Given the description of an element on the screen output the (x, y) to click on. 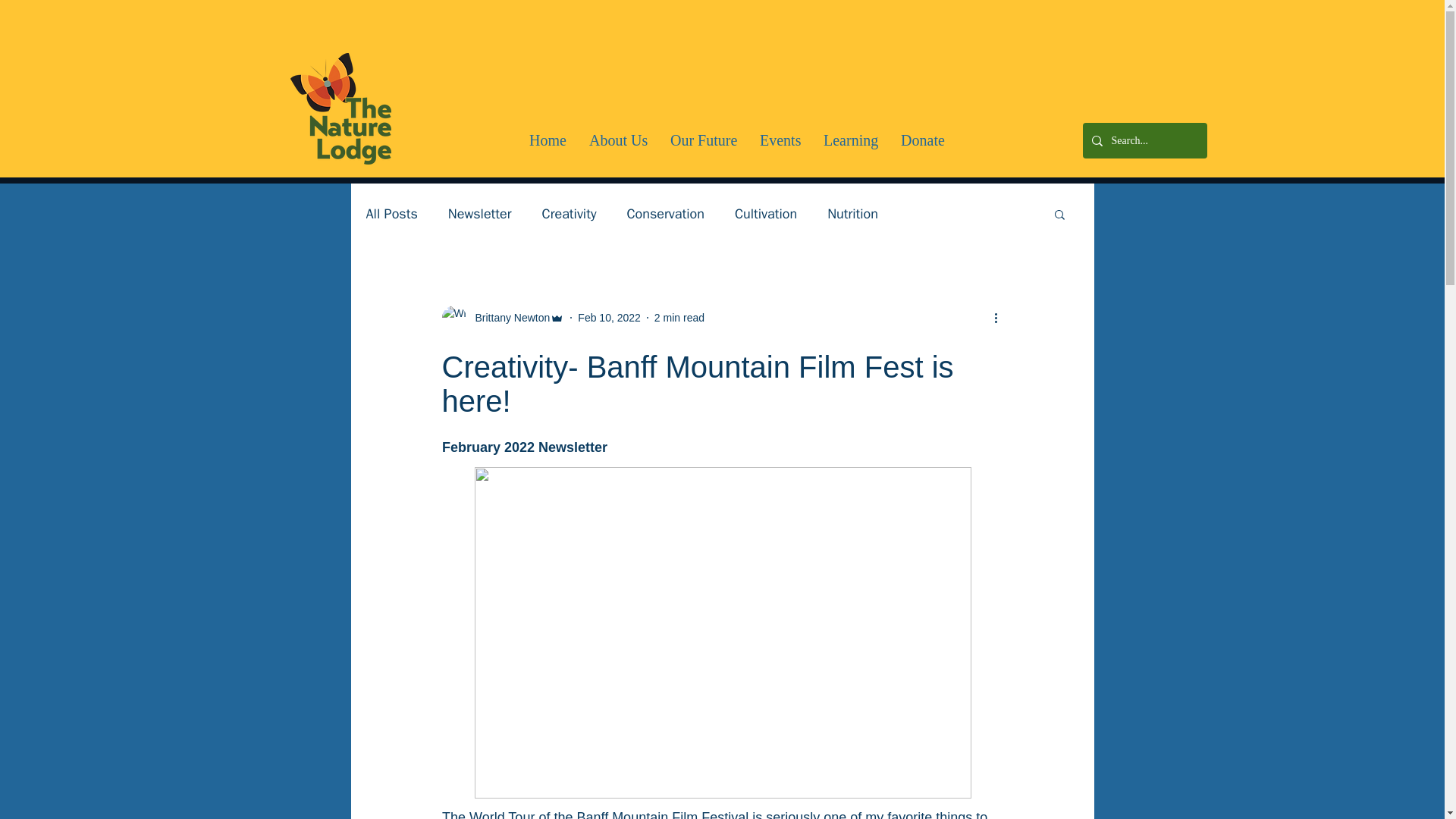
Donate (922, 140)
Events (780, 140)
Cultivation (765, 213)
Learning (850, 140)
All Posts (390, 213)
Newsletter (480, 213)
Creativity (568, 213)
Conservation (664, 213)
Home (548, 140)
Our Future (703, 140)
Nutrition (852, 213)
Brittany Newton (507, 317)
Brittany Newton (502, 317)
2 min read (678, 316)
About Us (618, 140)
